Given the description of an element on the screen output the (x, y) to click on. 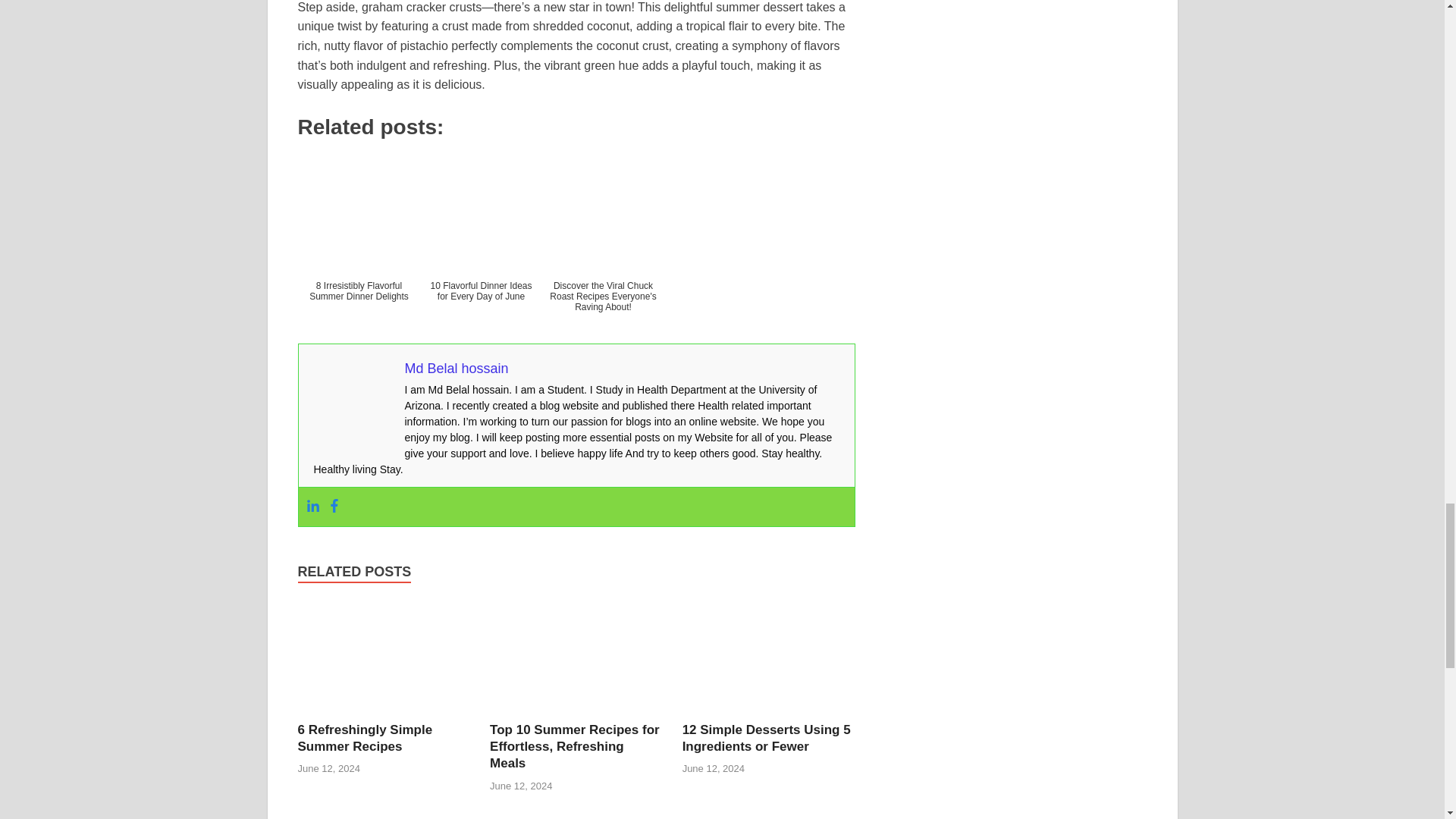
Md Belal hossain (456, 368)
